Given the description of an element on the screen output the (x, y) to click on. 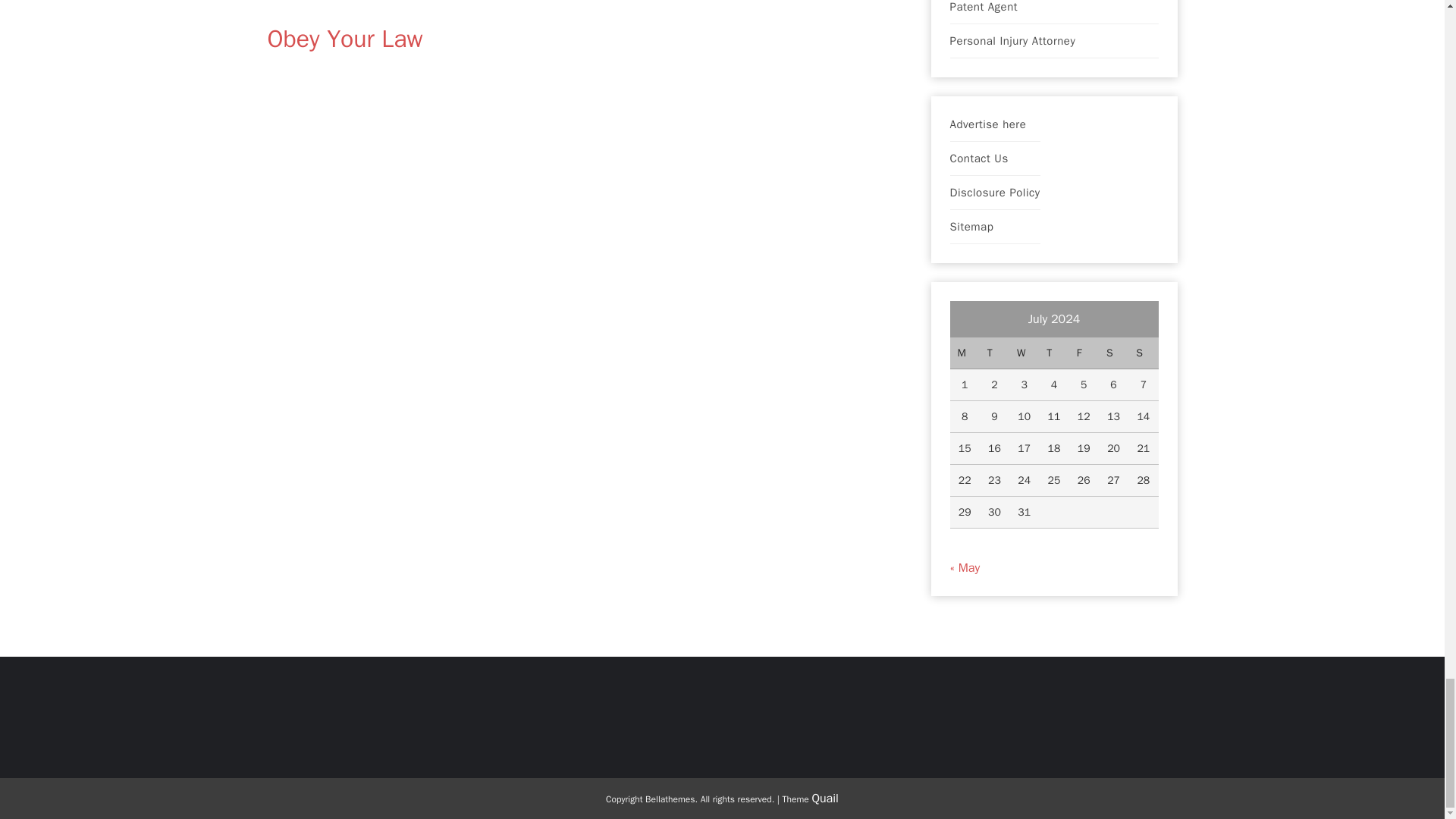
Friday (1083, 353)
Tuesday (994, 353)
Sunday (1142, 353)
Thursday (1053, 353)
Wednesday (1024, 353)
Saturday (1113, 353)
Monday (963, 353)
